Given the description of an element on the screen output the (x, y) to click on. 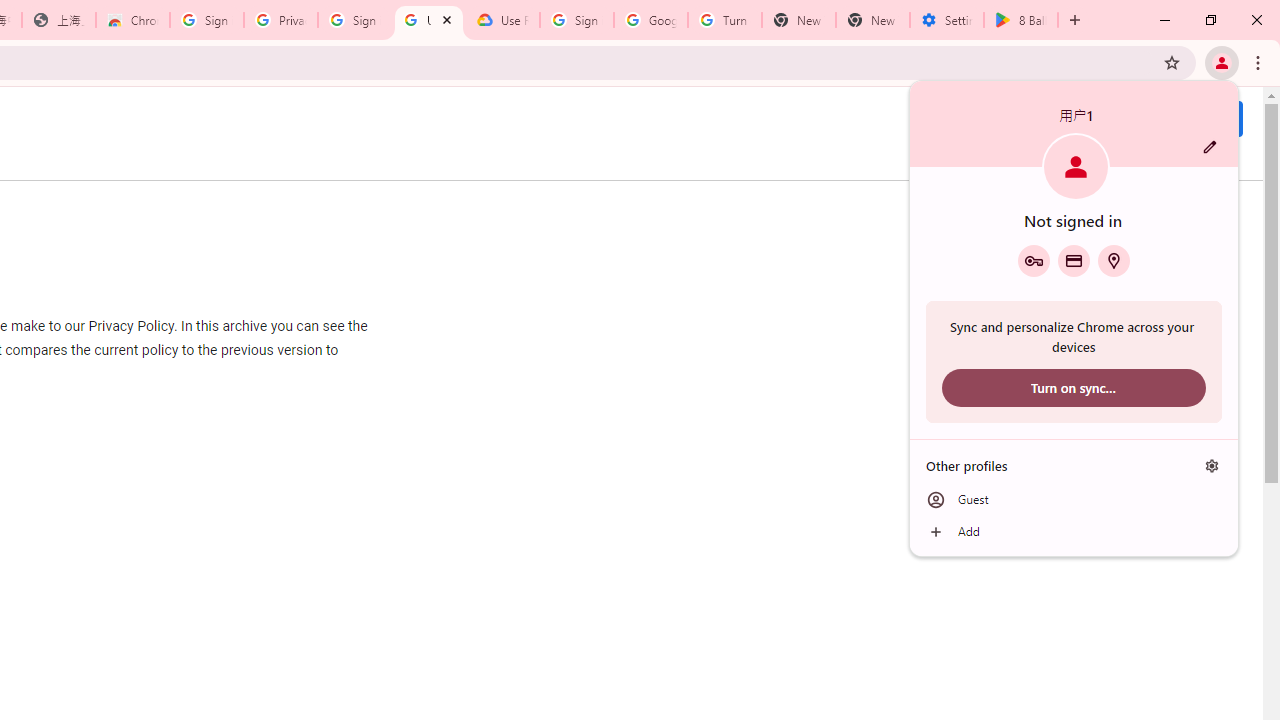
Customize profile (1210, 147)
8 Ball Pool - Apps on Google Play (1021, 20)
Chrome Web Store - Color themes by Chrome (133, 20)
Payment methods (1074, 260)
Add (1073, 531)
Sign in - Google Accounts (207, 20)
Google Password Manager (1033, 260)
Settings - System (947, 20)
Guest (1073, 499)
